Given the description of an element on the screen output the (x, y) to click on. 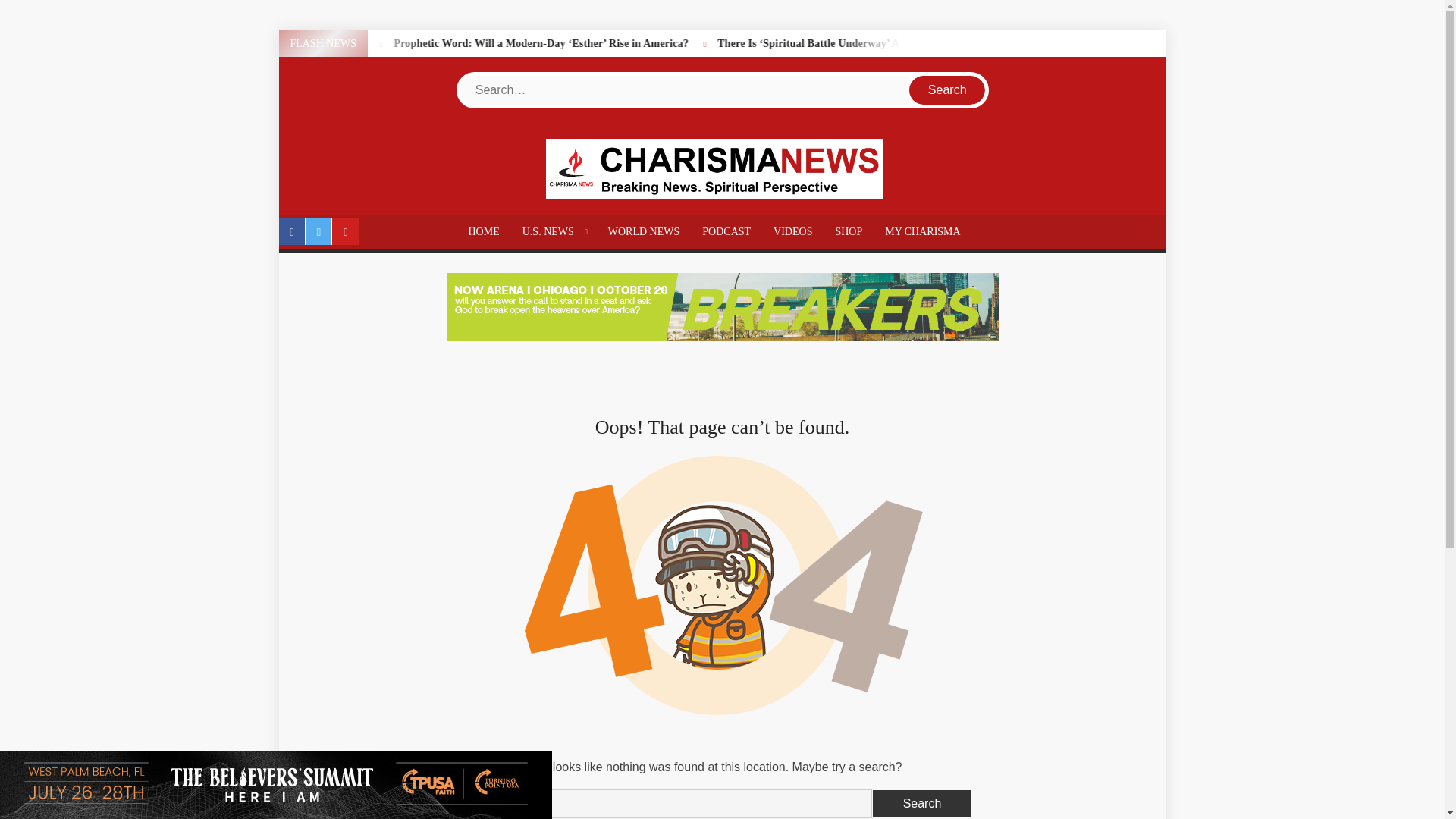
Will America Wake Up and Get to the Polls? (377, 43)
Search (922, 803)
Will America Wake Up and Get to the Polls? (340, 43)
Search (922, 803)
Search (946, 90)
Search (946, 90)
